Given the description of an element on the screen output the (x, y) to click on. 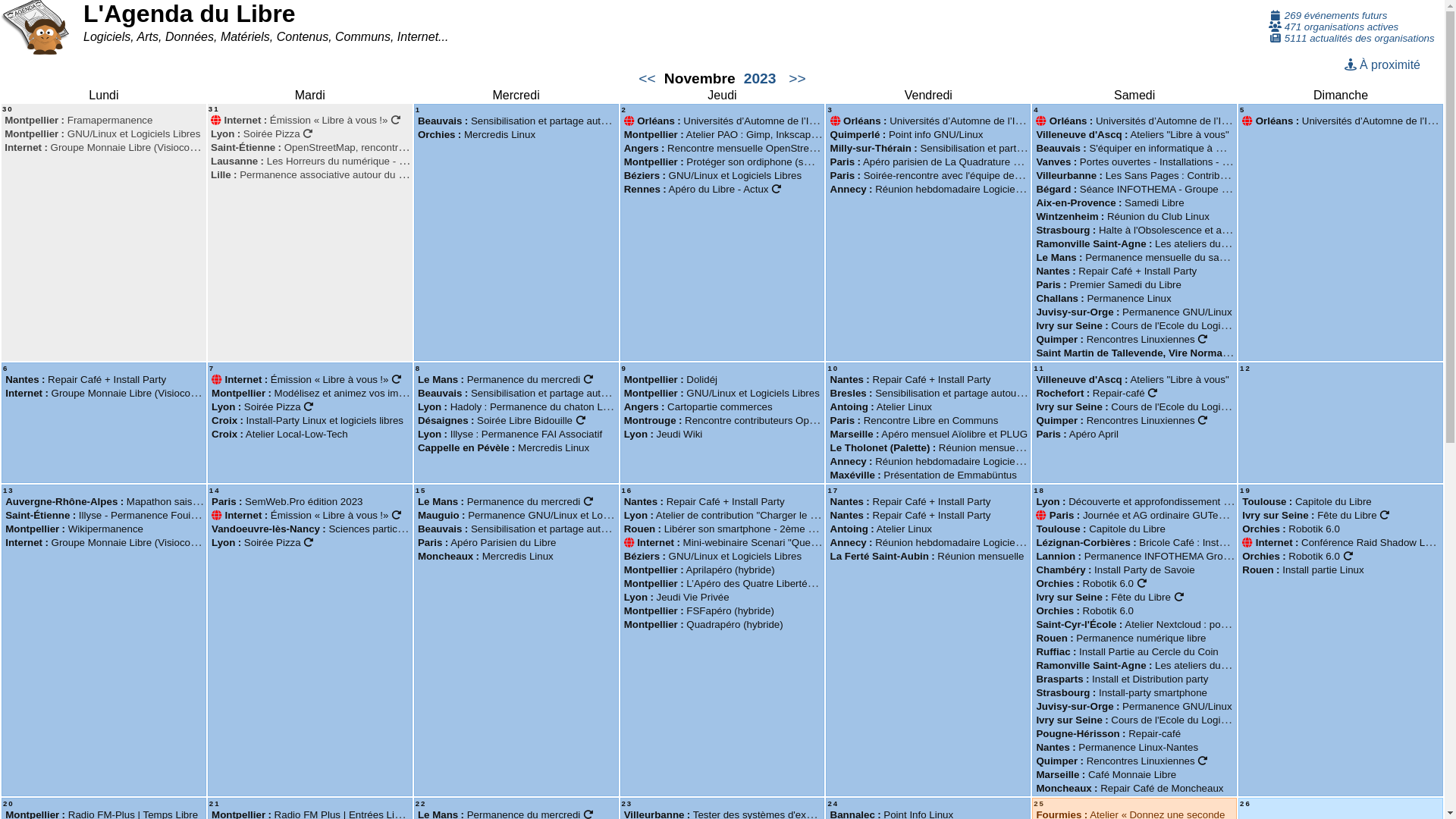
Ramonville Saint-Agne Les ateliers du CULTe Element type: text (1144, 665)
Juvisy-sur-Orge Permanence GNU/Linux Element type: text (1133, 311)
Le Mans Permanence du mercredi Element type: text (505, 501)
Lannion Permanence INFOTHEMA Groupe 2 Element type: text (1141, 555)
Paris Rencontre Libre en Communs Element type: text (914, 420)
Hebdomadaire 36 fois Element type: hover (308, 542)
Hebdomadaire 36 fois Element type: hover (307, 133)
Hebdomadaire 25 fois Element type: hover (1202, 760)
Paris Premier Samedi du Libre Element type: text (1108, 284)
Toulouse Capitole du Libre Element type: text (1306, 501)
Hebdomadaire 15 fois Element type: hover (396, 379)
Montpellier Framapermanence Element type: text (78, 119)
Lyon Illyse: Permanence FAI Associatif Element type: text (509, 433)
Orchies Mercredis Linux Element type: text (476, 134)
Lyon Jeudi Wiki Element type: text (663, 433)
Montpellier GNU/Linux et Logiciels Libres Element type: text (102, 133)
Juvisy-sur-Orge Permanence GNU/Linux Element type: text (1133, 706)
Mauguio Permanence GNU/Linux et Logiciels Libres Element type: text (539, 514)
<< Element type: text (647, 78)
Rouen Install partie Linux Element type: text (1302, 569)
Aix-en-Provence Samedi Libre Element type: text (1109, 202)
Orchies Robotik 6.0 Element type: text (1090, 583)
Angers Rencontre mensuelle OpenStreetMap Element type: text (730, 147)
Quimper Rencontres Linuxiennes Element type: text (1121, 760)
Antoing Atelier Linux Element type: text (880, 406)
Hebdomadaire 15 fois Element type: hover (395, 120)
Quotidien 2 fois Element type: hover (1141, 583)
Montpellier Wikipermanence Element type: text (74, 528)
Strasbourg Install-party smartphone Element type: text (1121, 692)
Hebdomadaire 4 fois Element type: hover (588, 379)
Beauvais Sensibilisation et partage autour du Libre Element type: text (542, 528)
Ivry sur Seine Cours de l'Ecole du Logiciel Libre Element type: text (1154, 719)
Quimper Rencontres Linuxiennes Element type: text (1121, 339)
Montpellier GNU/Linux et Logiciels Libres Element type: text (721, 392)
Croix Atelier Local-Low-Tech Element type: text (279, 433)
2023 Element type: text (759, 78)
Moncheaux Mercredis Linux Element type: text (485, 555)
Le Mans Permanence du mercredi Element type: text (505, 379)
Challans Permanence Linux Element type: text (1102, 298)
Montpellier Atelier PAO: Gimp, Inkscape, Scribus, Krita Element type: text (752, 134)
Quotidien 2 fois Element type: hover (1384, 515)
Angers Cartopartie commerces Element type: text (698, 406)
Montrouge Rencontre contributeurs OpenStreetMap Element type: text (745, 420)
Hebdomadaire 15 fois Element type: hover (396, 515)
Lyon Hadoly: Permanence du chaton Lyonnais Element type: text (533, 406)
Ruffiac Install Partie au Cercle du Coin Element type: text (1126, 651)
>> Element type: text (797, 78)
Ivry sur Seine Cours de l'Ecole du Logiciel Libre Element type: text (1154, 406)
Croix Install-Party Linux et logiciels libres Element type: text (307, 420)
Orchies Robotik 6.0 Element type: text (1084, 610)
Orchies Robotik 6.0 Element type: text (1290, 528)
Quotidien 2 fois Element type: hover (1178, 597)
471 organisations actives Element type: text (1333, 26)
Quimper Rencontres Linuxiennes Element type: text (1121, 420)
Hebdomadaire 36 fois Element type: hover (308, 406)
Beauvais Sensibilisation et partage autour du Libre Element type: text (542, 392)
Nantes Permanence Linux-Nantes Element type: text (1116, 747)
Orchies Robotik 6.0 Element type: text (1297, 555)
Bresles Sensibilisation et partage autour du Libre Element type: text (944, 392)
Hebdomadaire 25 fois Element type: hover (1202, 420)
Beauvais Sensibilisation et partage autour du Libre Element type: text (542, 120)
Toulouse Capitole du Libre Element type: text (1100, 528)
Hebdomadaire 4 fois Element type: hover (588, 501)
Le Mans Permanence mensuelle du samedi Element type: text (1137, 257)
Lille Permanence associative autour du Libre Element type: text (315, 174)
Ramonville Saint-Agne Les ateliers du CULTe Element type: text (1144, 243)
Quotidien 2 fois Element type: hover (1347, 556)
Ivry sur Seine Cours de l'Ecole du Logiciel Libre Element type: text (1154, 325)
Antoing Atelier Linux Element type: text (880, 528)
Brasparts Install et Distribution party Element type: text (1121, 678)
Hebdomadaire 25 fois Element type: hover (1202, 339)
